Given the description of an element on the screen output the (x, y) to click on. 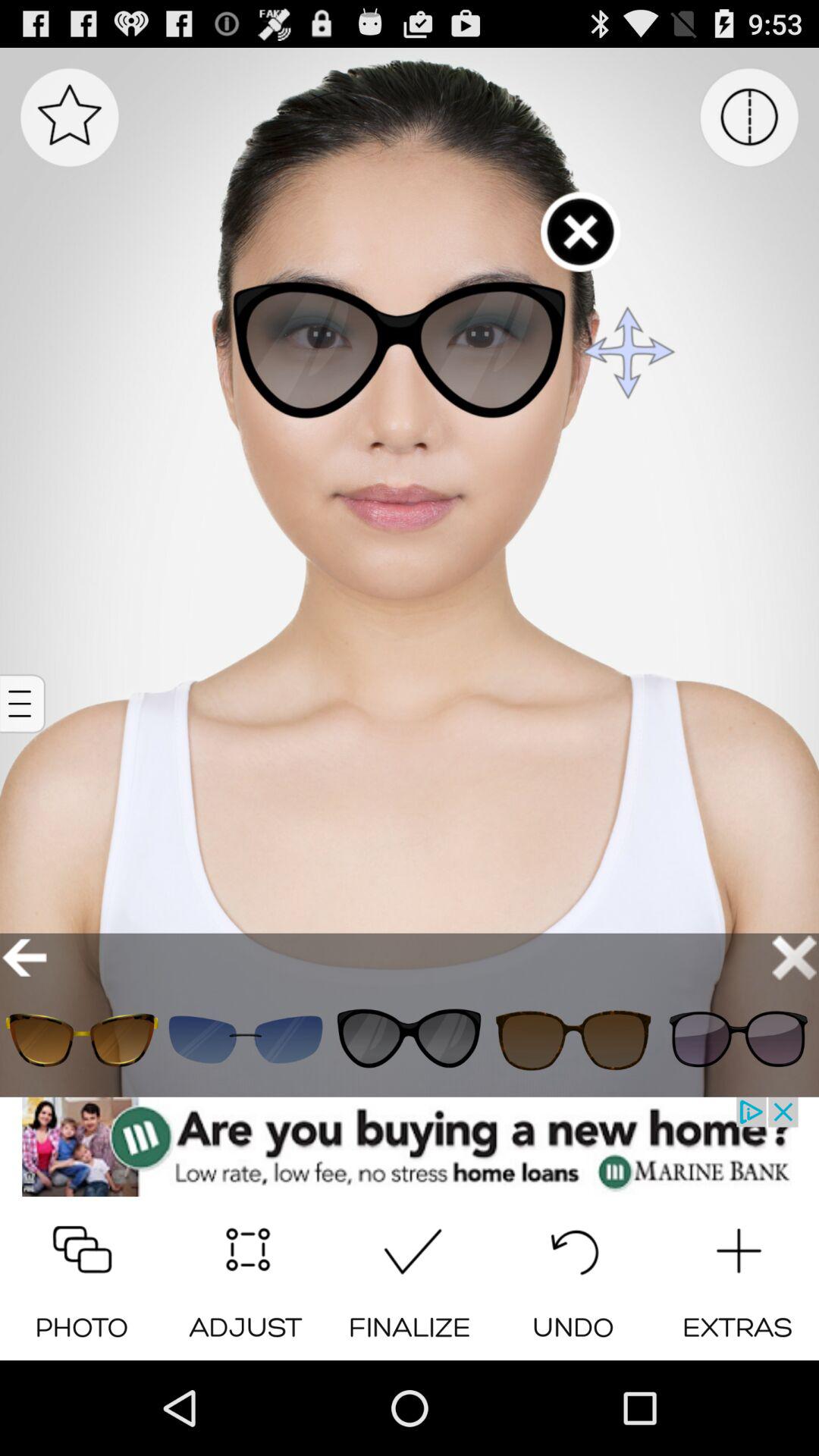
mark as favorite (69, 117)
